Given the description of an element on the screen output the (x, y) to click on. 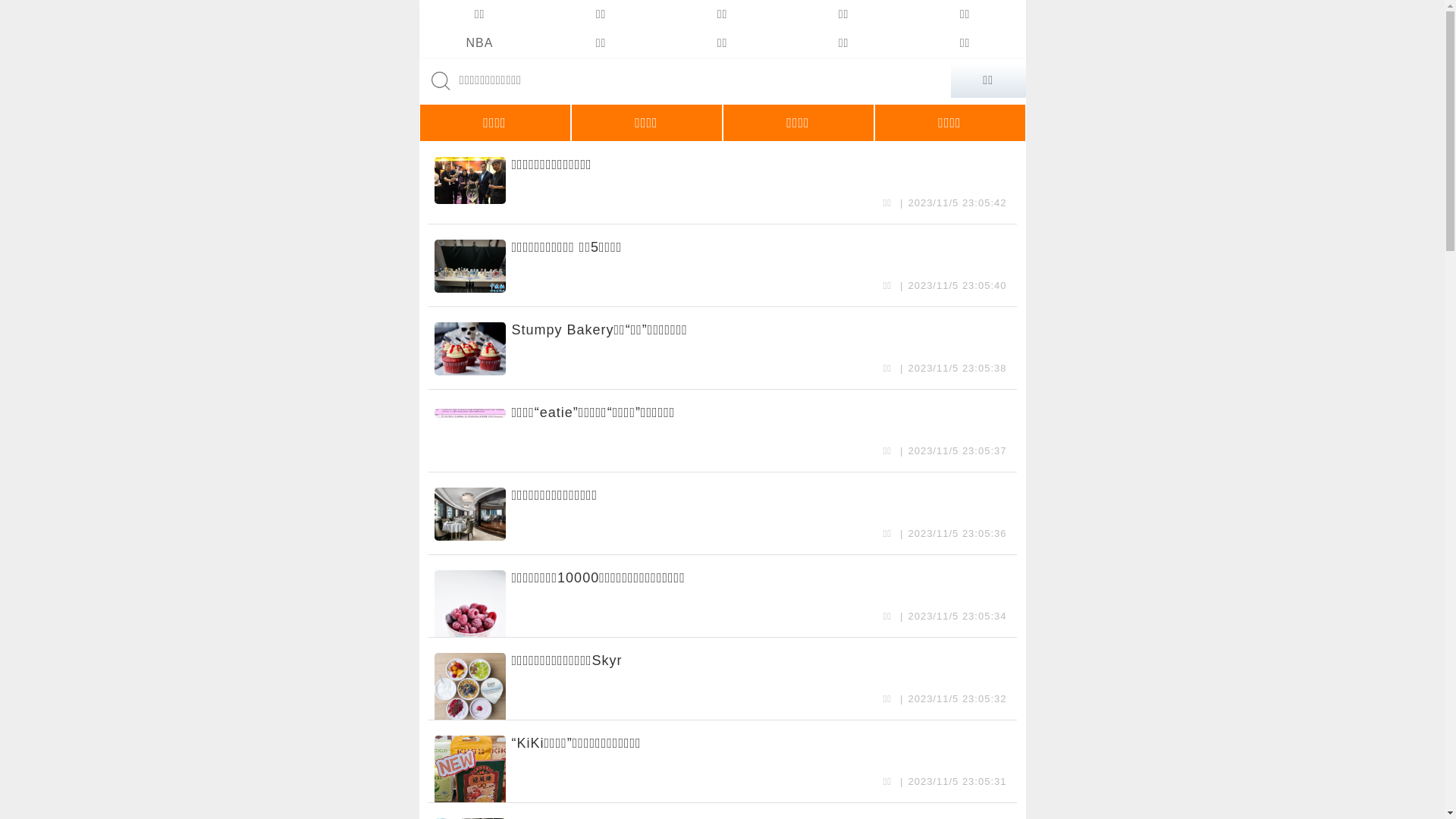
NBA Element type: text (478, 42)
